Given the description of an element on the screen output the (x, y) to click on. 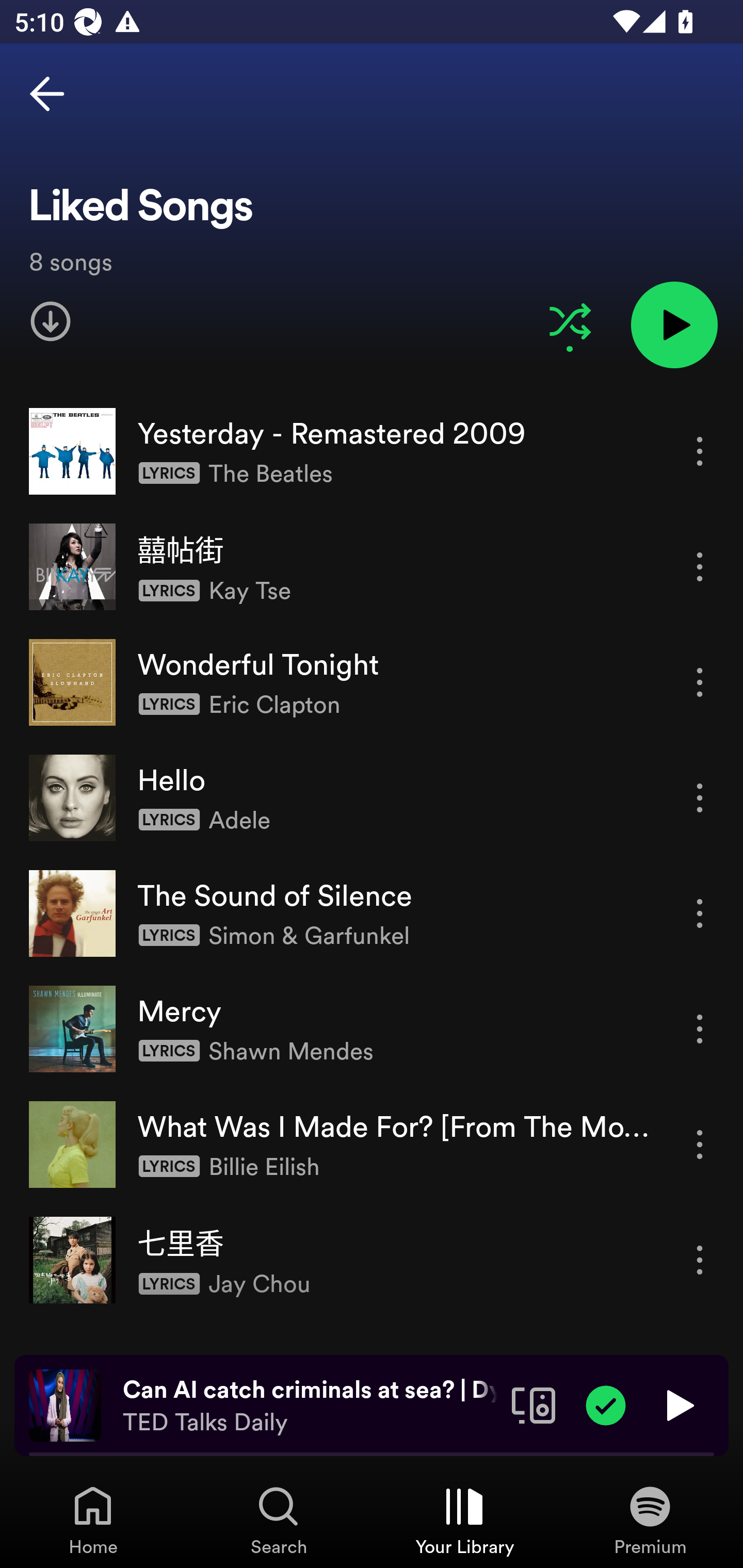
Back (46, 93)
Download (50, 321)
Disable shuffle for this liked songs (569, 321)
Play liked songs (674, 324)
More options for song Yesterday - Remastered 2009 (699, 450)
囍帖街 More options for song 囍帖街 Lyrics Kay Tse (371, 566)
More options for song 囍帖街 (699, 566)
More options for song Wonderful Tonight (699, 682)
Hello More options for song Hello Lyrics Adele (371, 798)
More options for song Hello (699, 798)
More options for song The Sound of Silence (699, 913)
More options for song Mercy (699, 1029)
七里香 More options for song 七里香 Lyrics Jay Chou (371, 1259)
More options for song 七里香 (699, 1259)
The cover art of the currently playing track (64, 1404)
Connect to a device. Opens the devices menu (533, 1404)
Item added (605, 1404)
Play (677, 1404)
Home, Tab 1 of 4 Home Home (92, 1519)
Search, Tab 2 of 4 Search Search (278, 1519)
Your Library, Tab 3 of 4 Your Library Your Library (464, 1519)
Premium, Tab 4 of 4 Premium Premium (650, 1519)
